Given the description of an element on the screen output the (x, y) to click on. 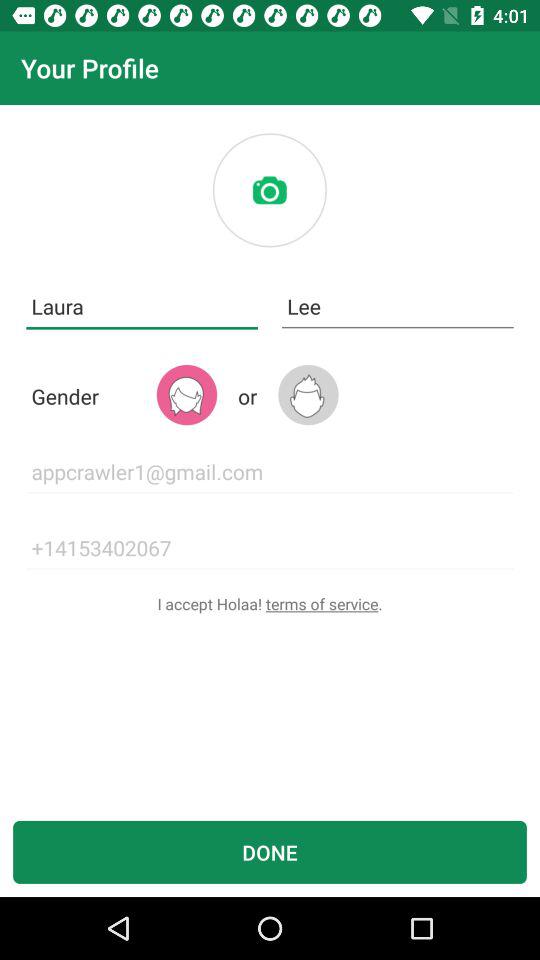
click item above the laura item (269, 190)
